Given the description of an element on the screen output the (x, y) to click on. 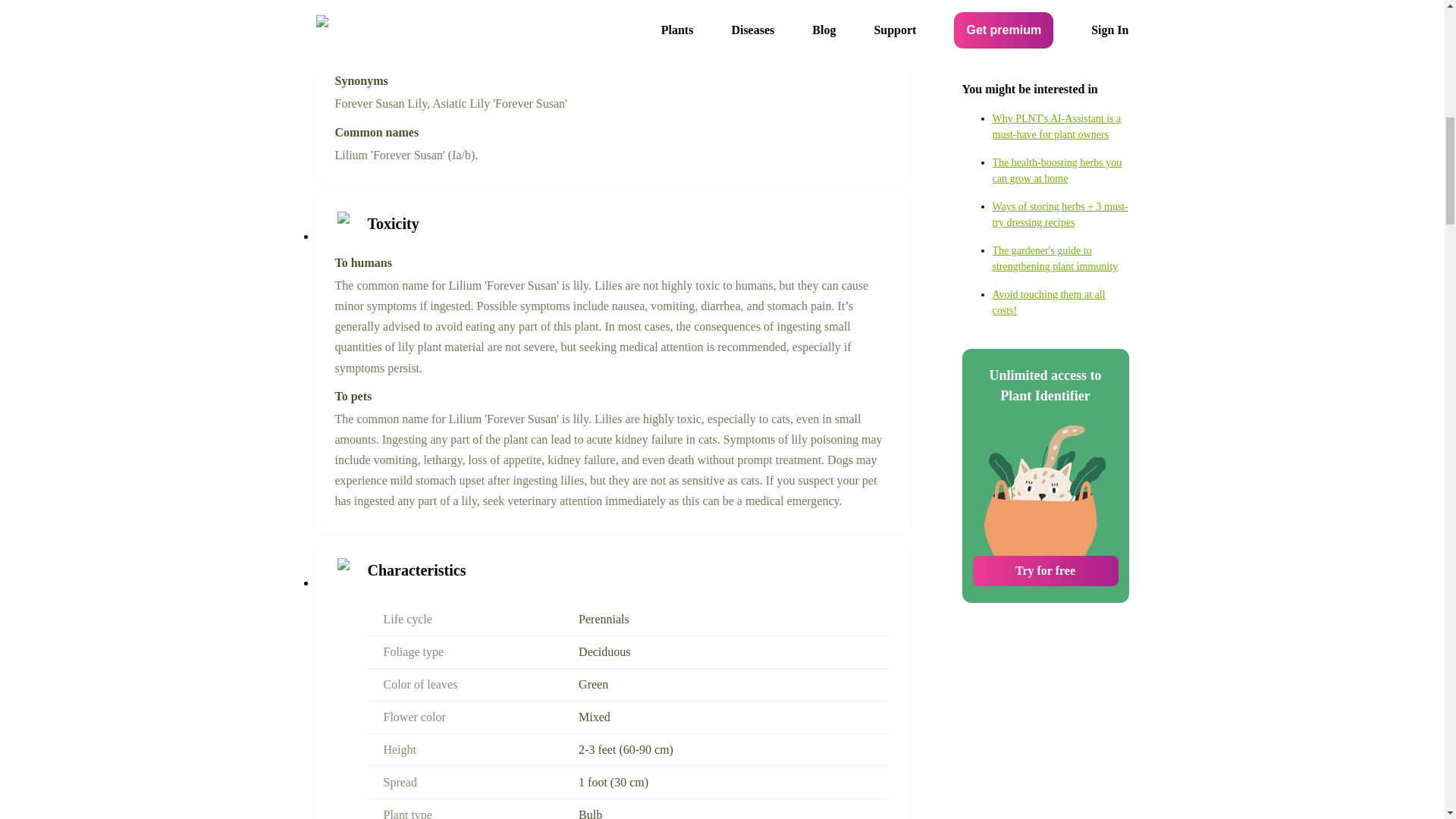
Try for free (1045, 322)
The gardener's guide to strengthening plant immunity (1059, 13)
Avoid touching them at all costs! (1059, 54)
